Given the description of an element on the screen output the (x, y) to click on. 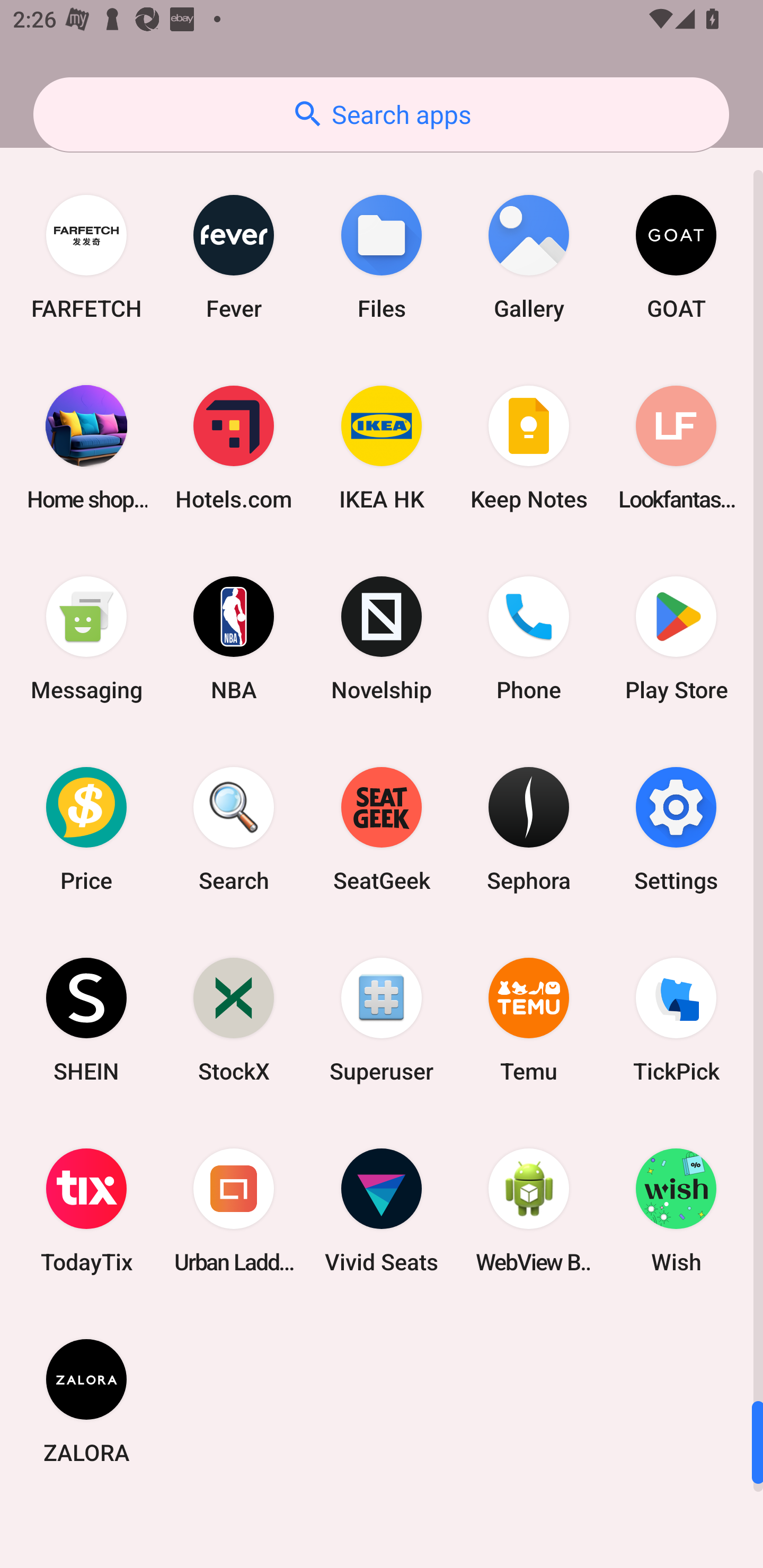
  Search apps (381, 114)
FARFETCH (86, 256)
Fever (233, 256)
Files (381, 256)
Gallery (528, 256)
GOAT (676, 256)
Home shopping (86, 447)
Hotels.com (233, 447)
IKEA HK (381, 447)
Keep Notes (528, 447)
Lookfantastic (676, 447)
Messaging (86, 637)
NBA (233, 637)
Novelship (381, 637)
Phone (528, 637)
Play Store (676, 637)
Price (86, 829)
Search (233, 829)
SeatGeek (381, 829)
Sephora (528, 829)
Settings (676, 829)
SHEIN (86, 1019)
StockX (233, 1019)
Superuser (381, 1019)
Temu (528, 1019)
TickPick (676, 1019)
TodayTix (86, 1210)
Urban Ladder (233, 1210)
Vivid Seats (381, 1210)
WebView Browser Tester (528, 1210)
Wish (676, 1210)
ZALORA (86, 1400)
